Given the description of an element on the screen output the (x, y) to click on. 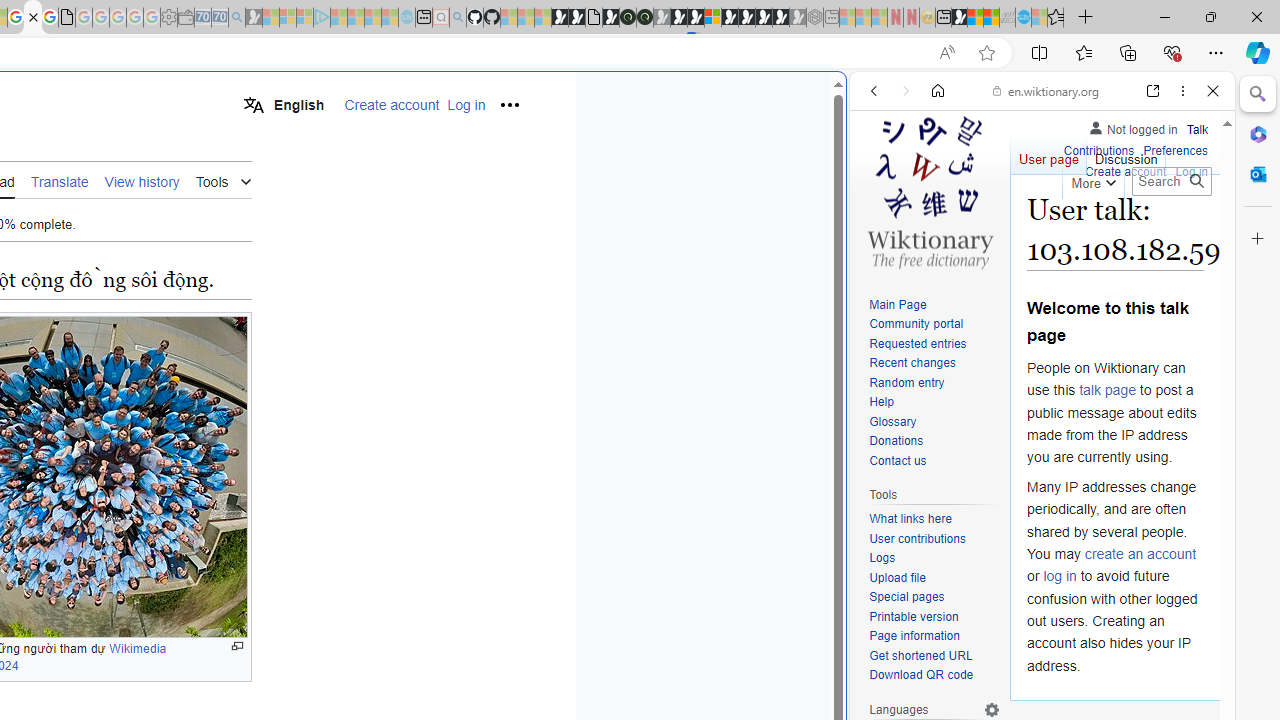
Contributions (1098, 148)
